Given the description of an element on the screen output the (x, y) to click on. 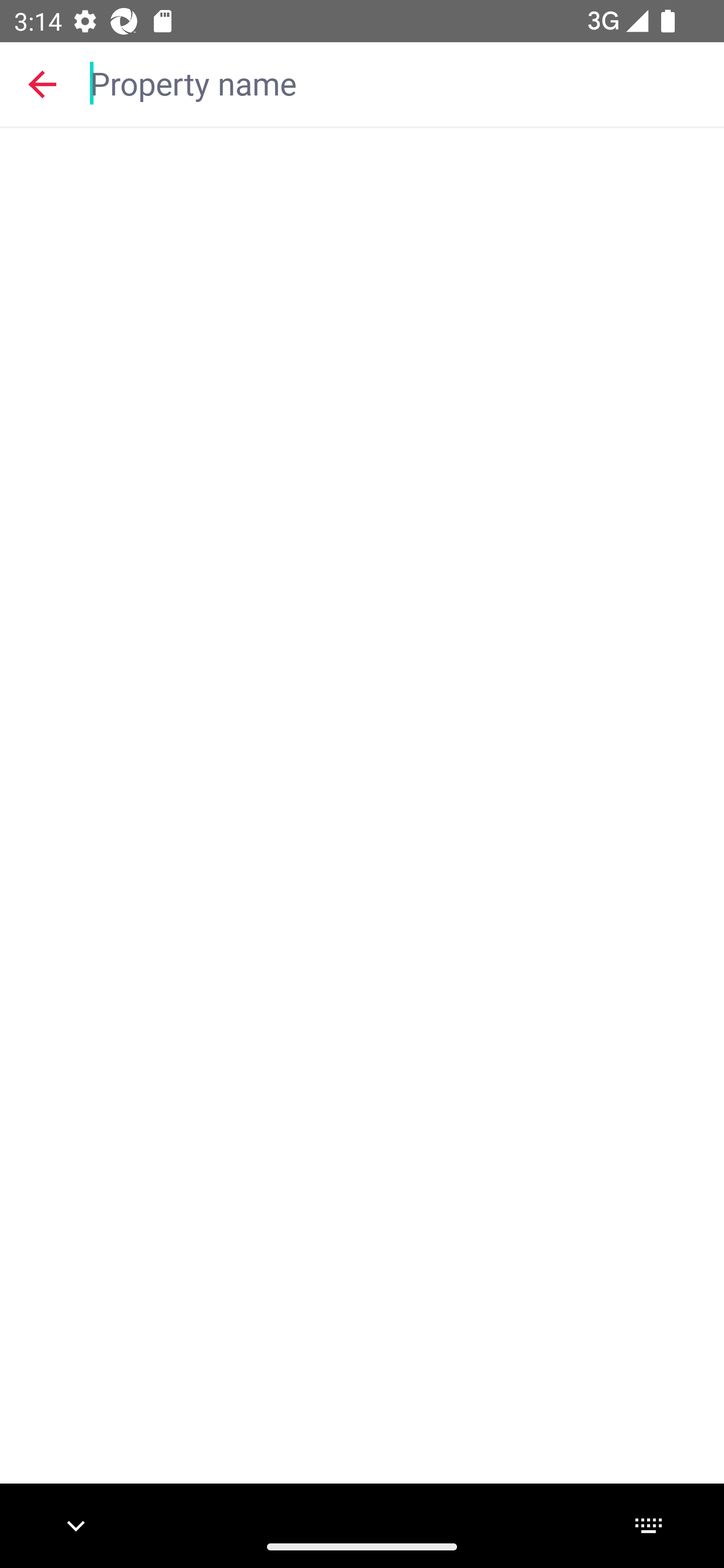
Property name,  (397, 82)
Back to search screen (41, 83)
